Given the description of an element on the screen output the (x, y) to click on. 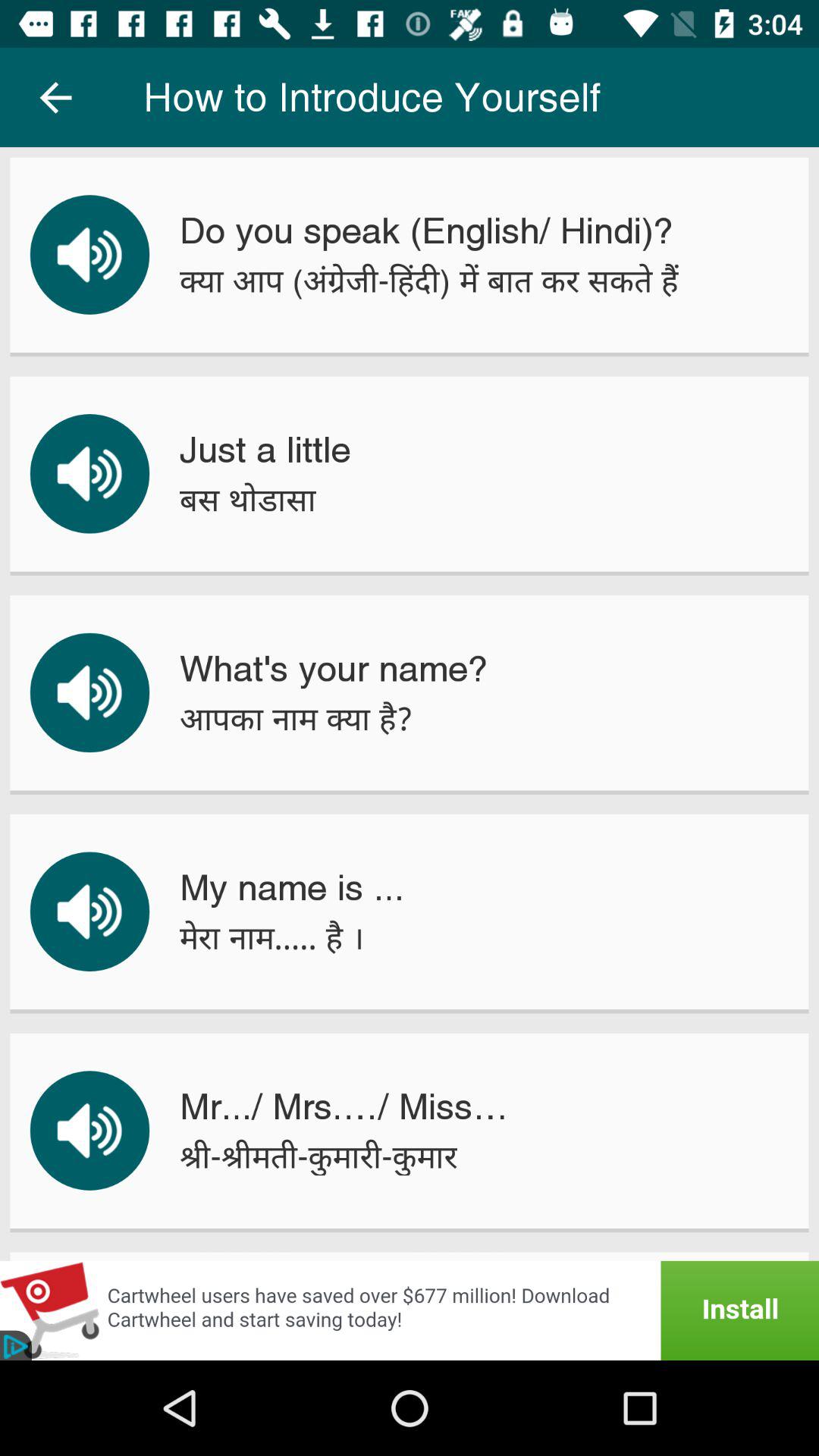
press icon below what s your (295, 718)
